Given the description of an element on the screen output the (x, y) to click on. 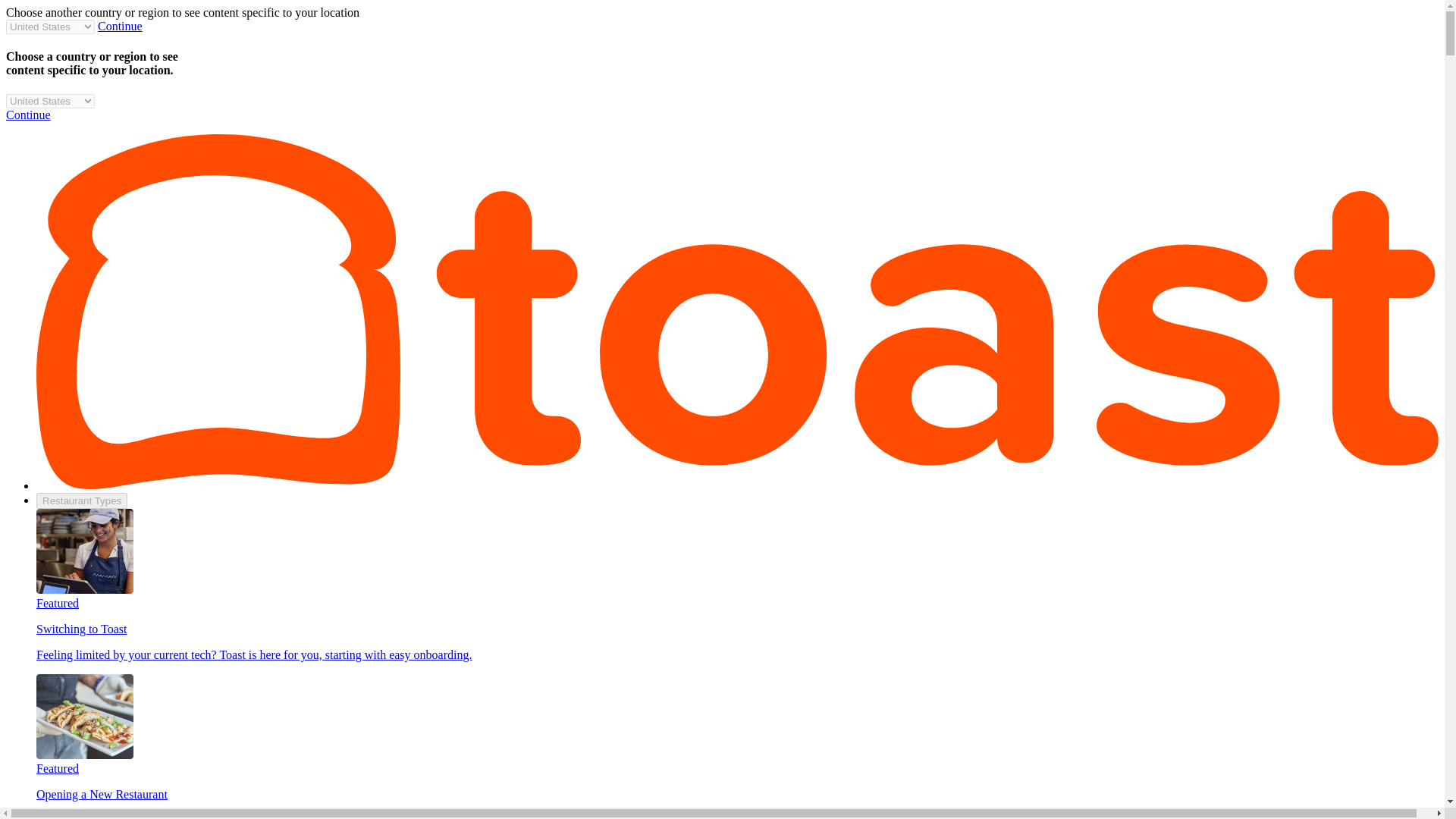
Restaurant Types (82, 500)
Continue (119, 25)
Continue (27, 114)
